Given the description of an element on the screen output the (x, y) to click on. 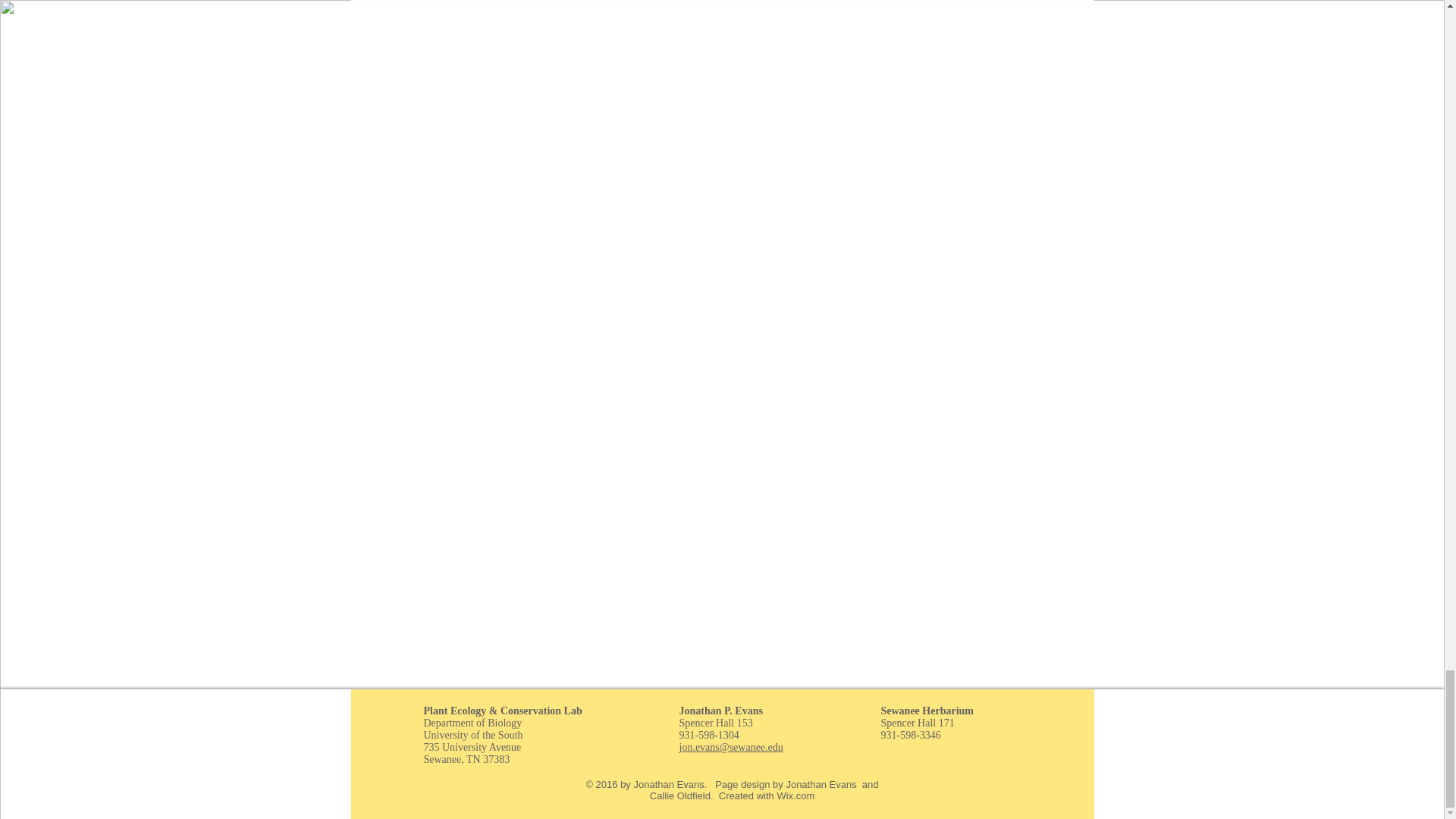
Wix.com (794, 795)
